Given the description of an element on the screen output the (x, y) to click on. 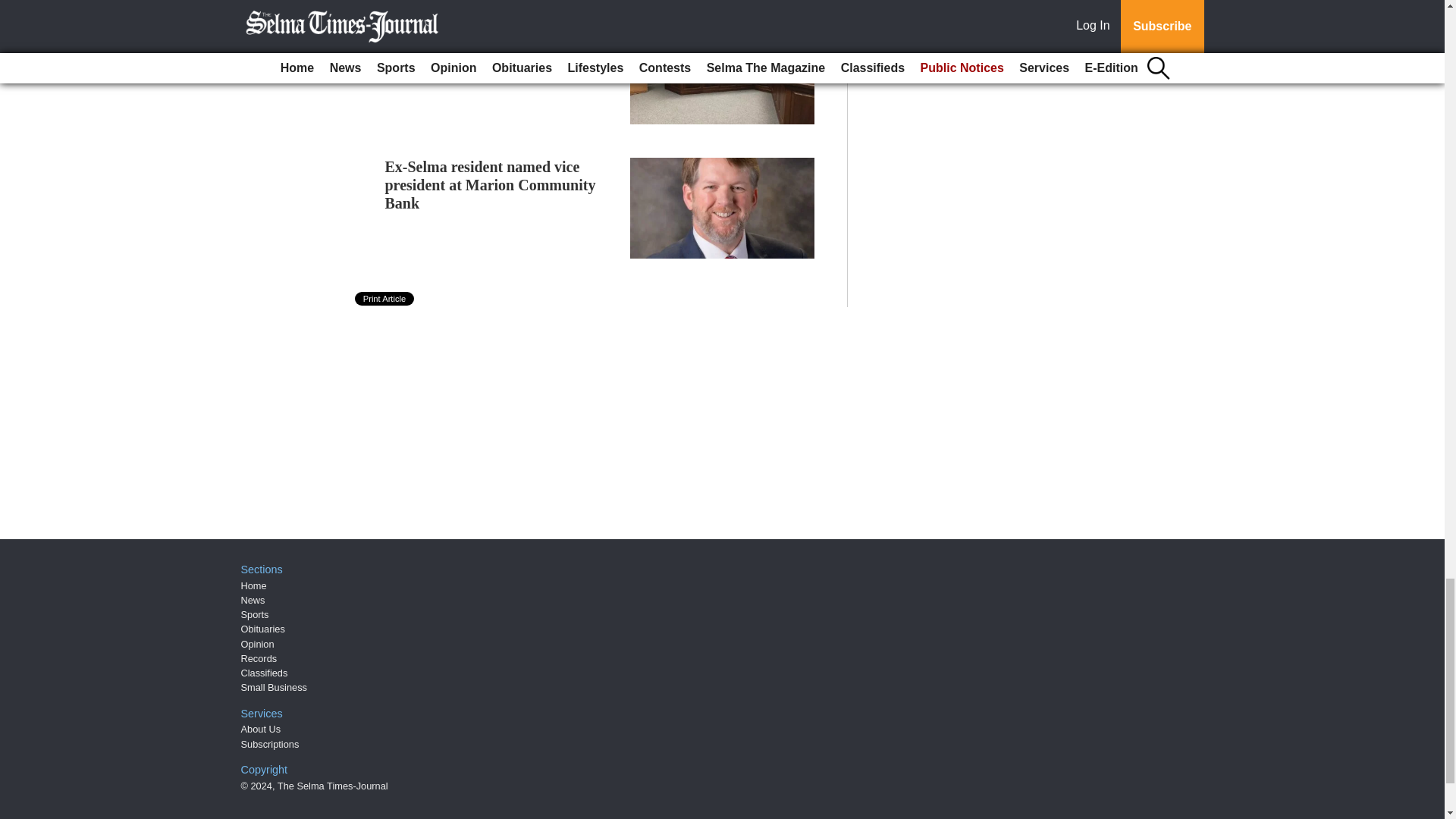
Print Article (384, 298)
Valley Grande moves closer to filling vacant council seat (482, 40)
Valley Grande moves closer to filling vacant council seat (482, 40)
